Given the description of an element on the screen output the (x, y) to click on. 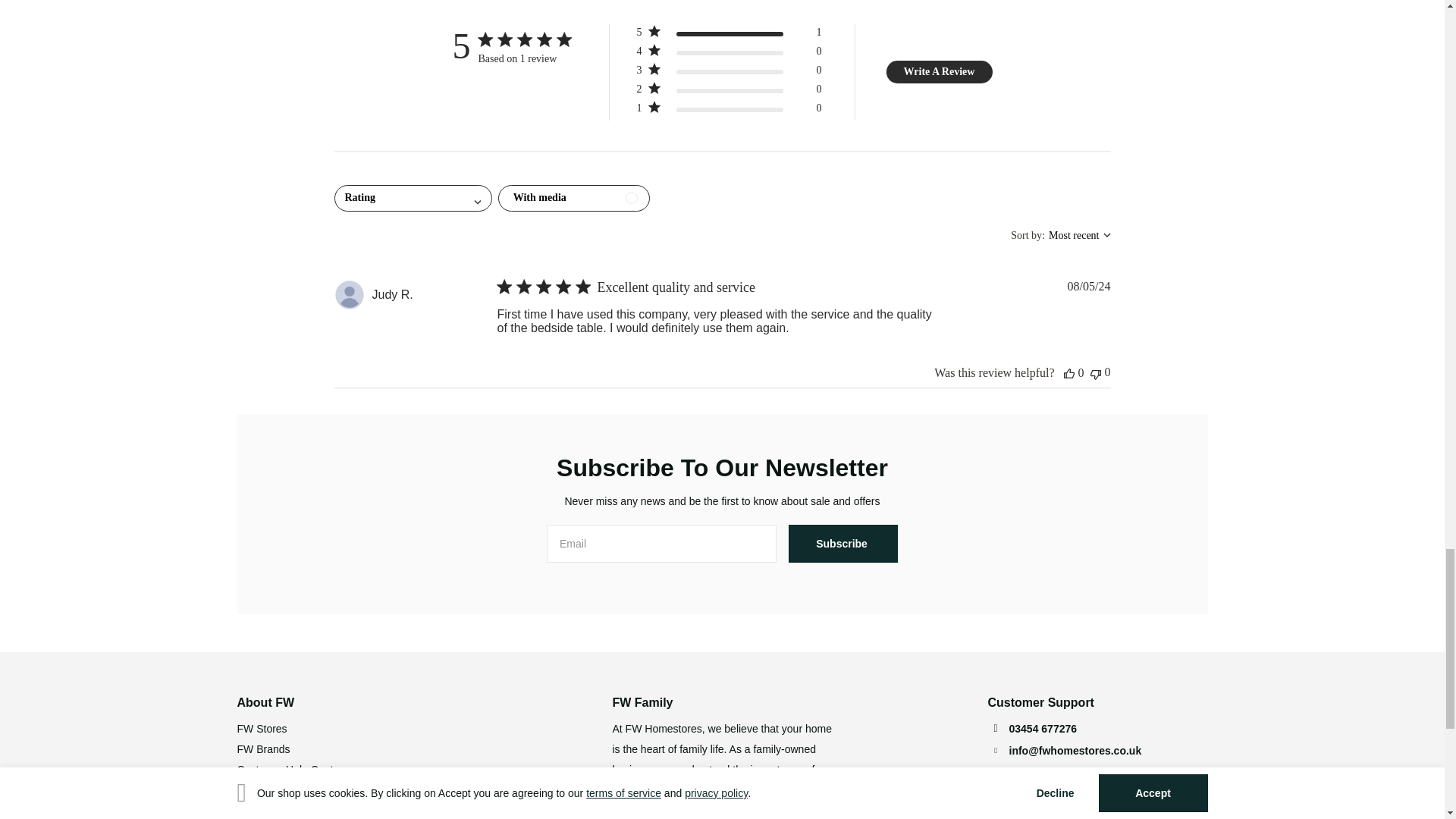
Judy R. (391, 295)
Abstract user icon (348, 295)
